Given the description of an element on the screen output the (x, y) to click on. 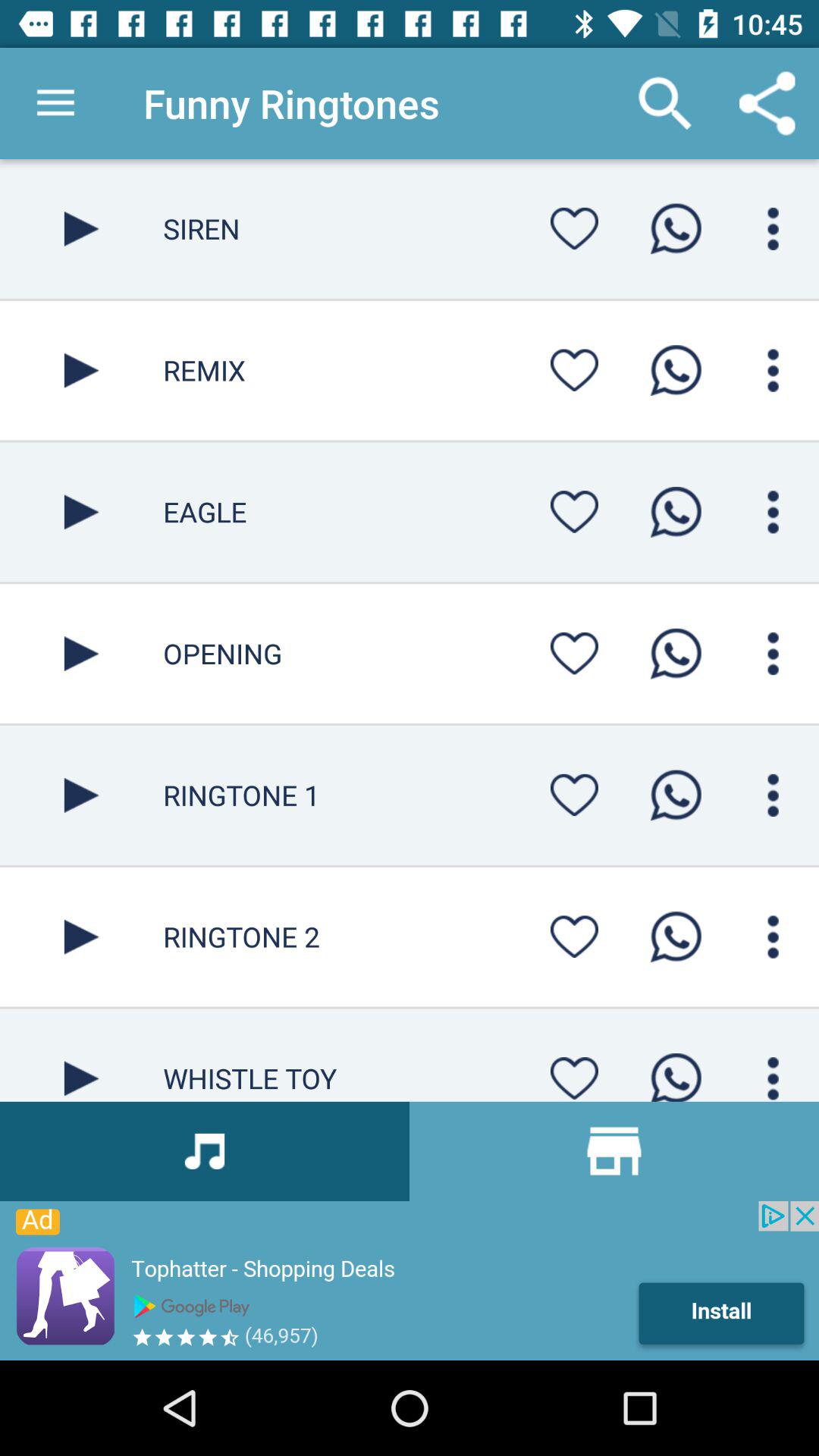
click for opening (773, 653)
